Given the description of an element on the screen output the (x, y) to click on. 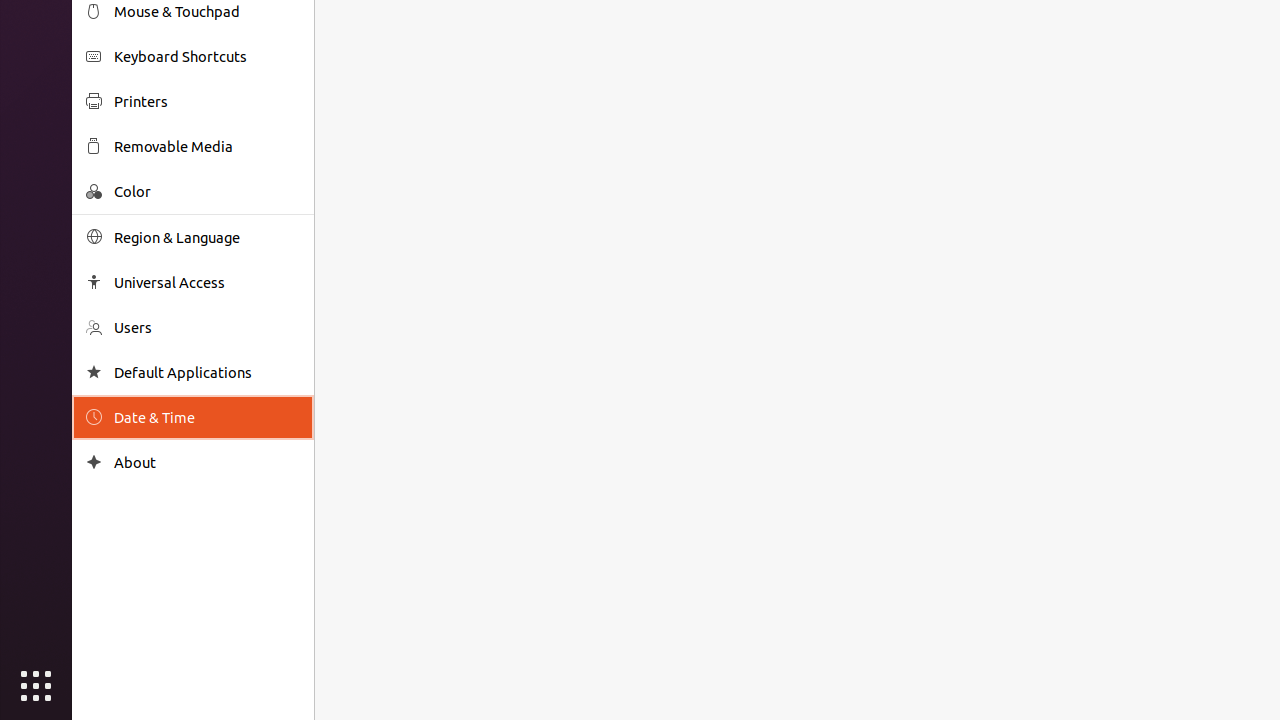
About Element type: icon (94, 462)
Mouse & Touchpad Element type: label (207, 11)
